Given the description of an element on the screen output the (x, y) to click on. 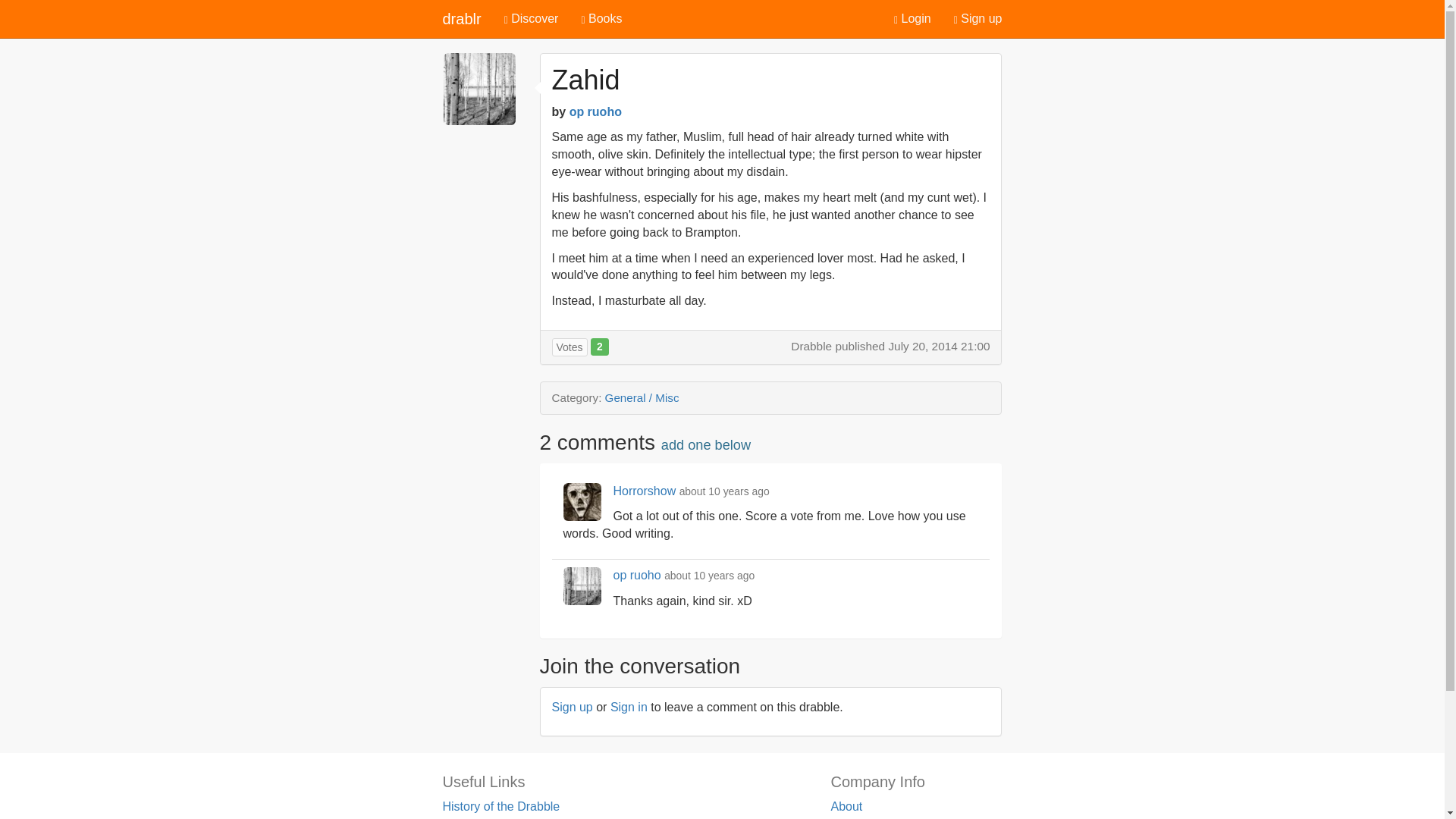
add one below (706, 444)
op ruoho (636, 574)
Login (912, 18)
Drabble Books (482, 818)
Discover (531, 18)
Sign up (571, 707)
Sign in (628, 707)
About (845, 806)
Votes (569, 347)
Zahid (585, 79)
